Given the description of an element on the screen output the (x, y) to click on. 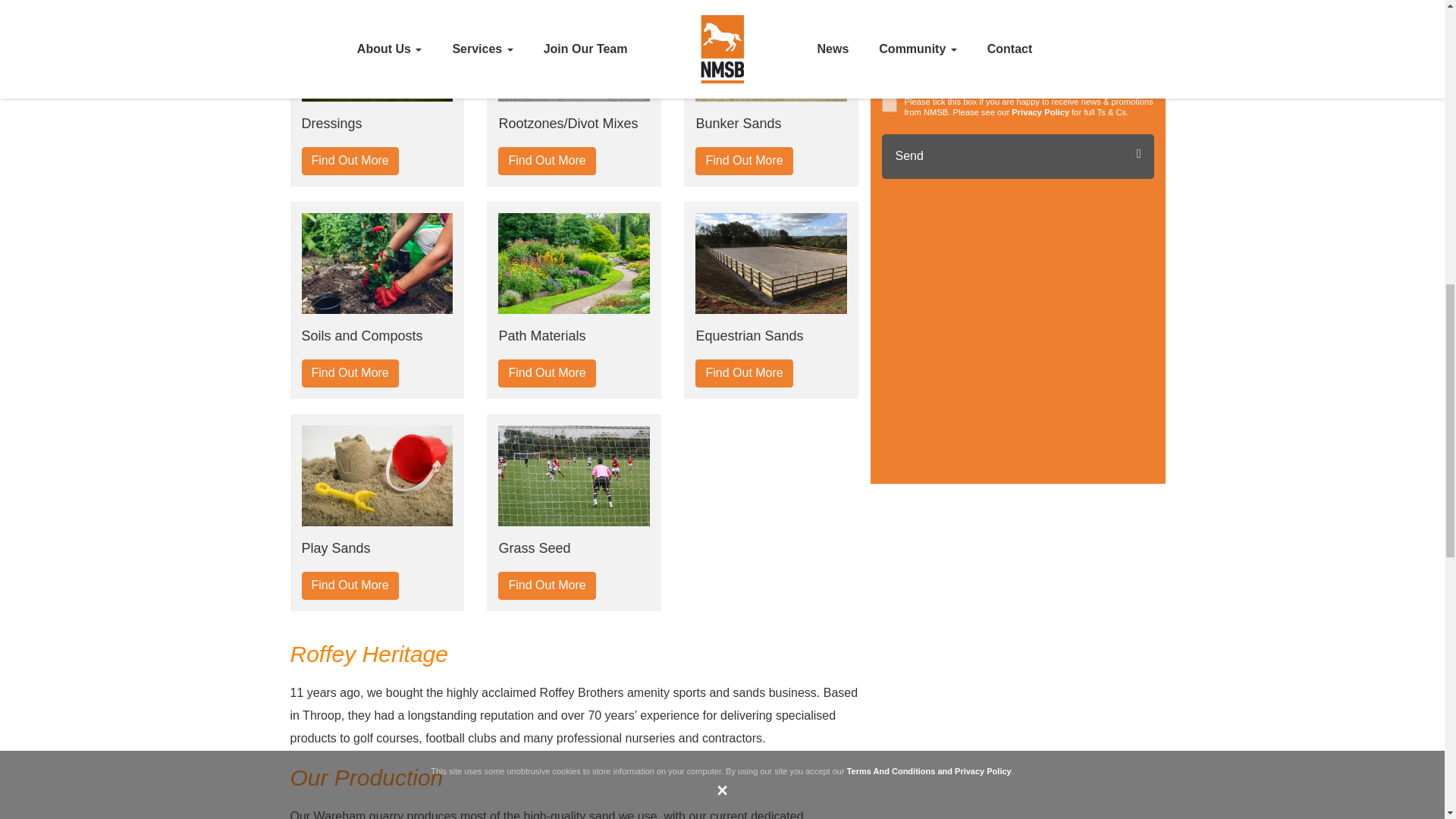
Find Out More (743, 161)
Yes (888, 104)
Find Out More (546, 161)
Find Out More (349, 161)
Find Out More (349, 373)
Find Out More (546, 373)
